Given the description of an element on the screen output the (x, y) to click on. 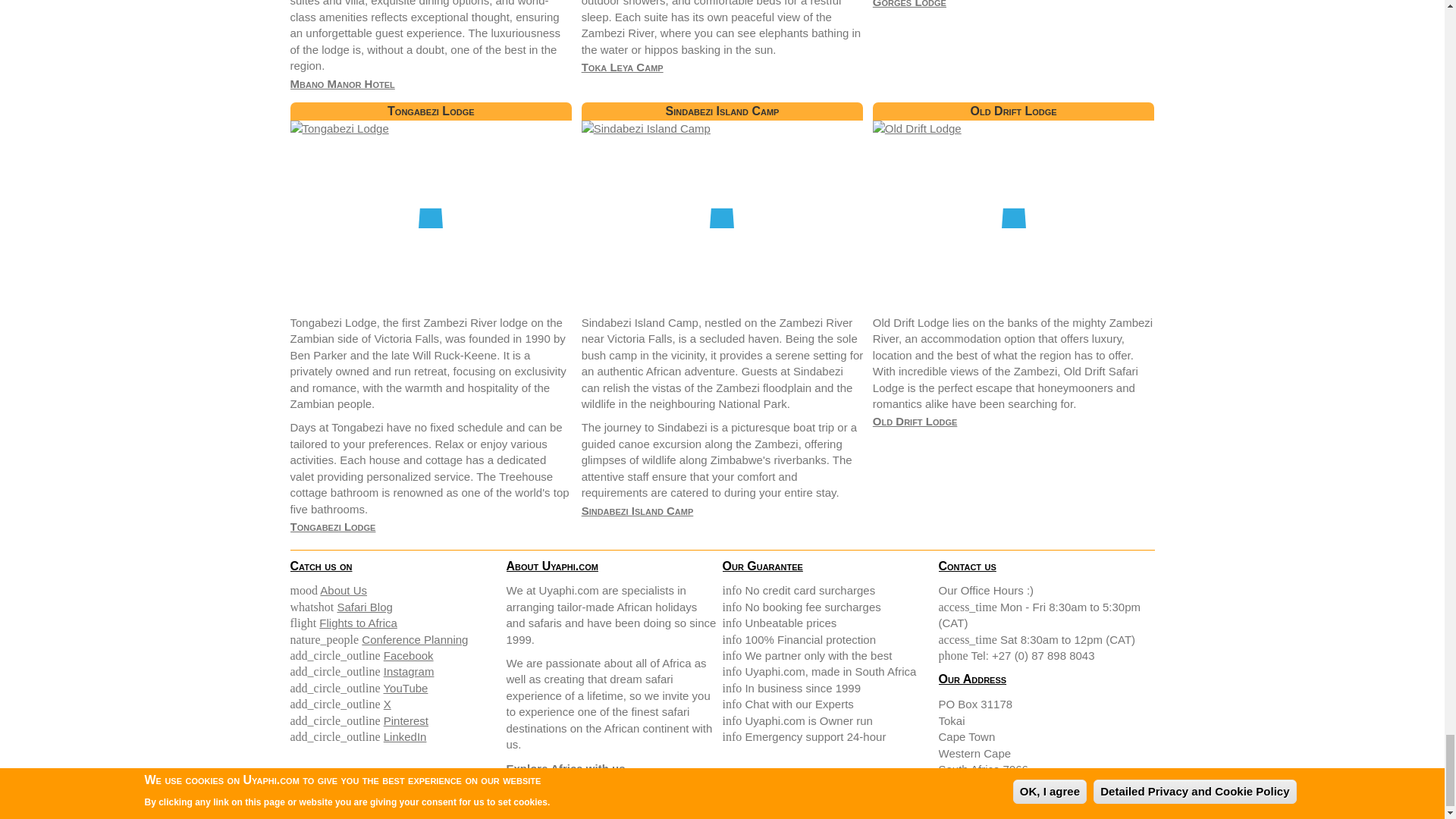
Toka Leya Camp (621, 66)
Tongabezi Lodge (332, 526)
Mbano Manor Hotel (341, 83)
Gorges Lodge (909, 4)
